Given the description of an element on the screen output the (x, y) to click on. 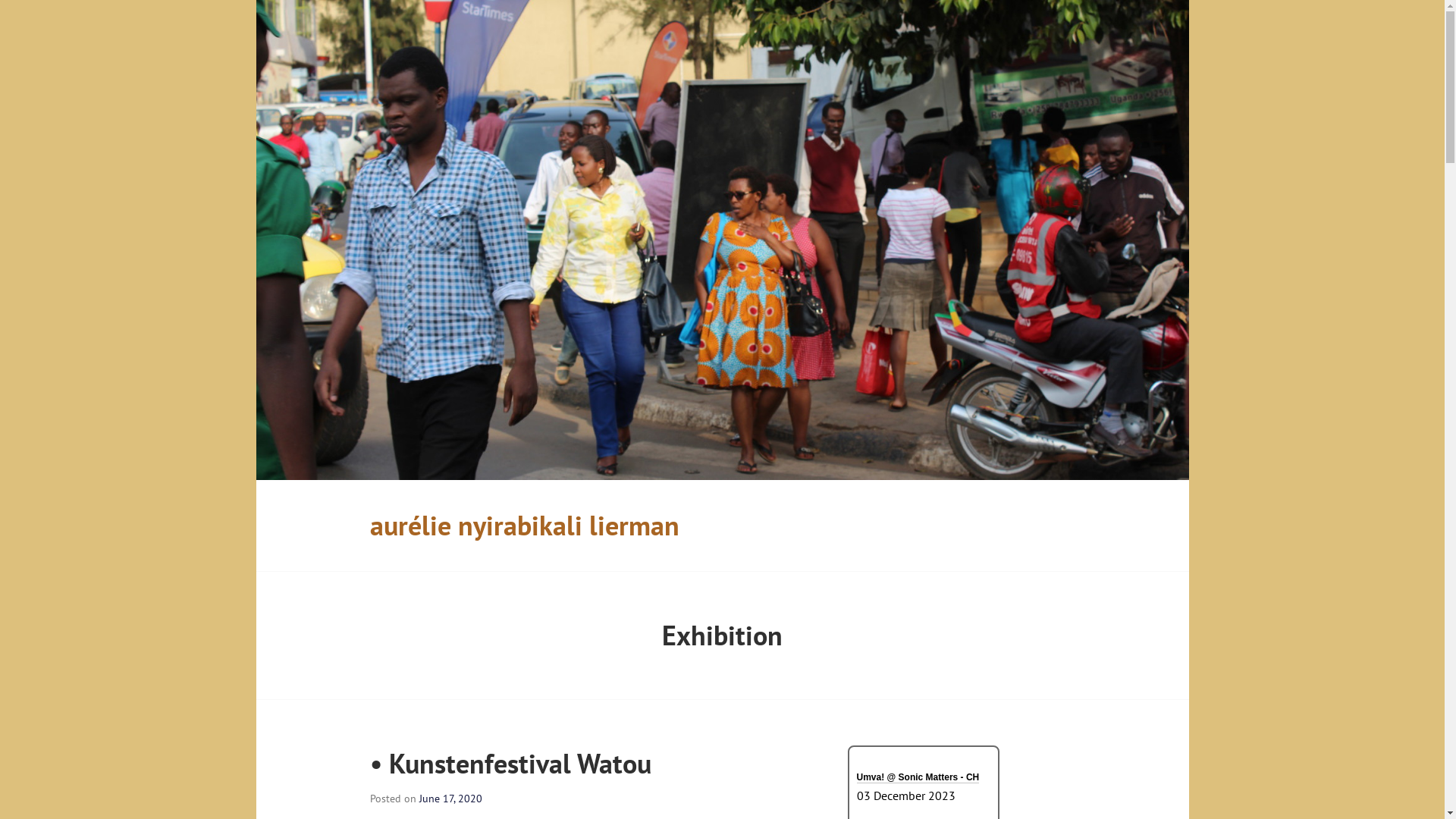
Umva! @ Sonic Matters - CH Element type: text (917, 787)
June 17, 2020 Element type: text (449, 798)
Skip to content Element type: text (256, 0)
